Given the description of an element on the screen output the (x, y) to click on. 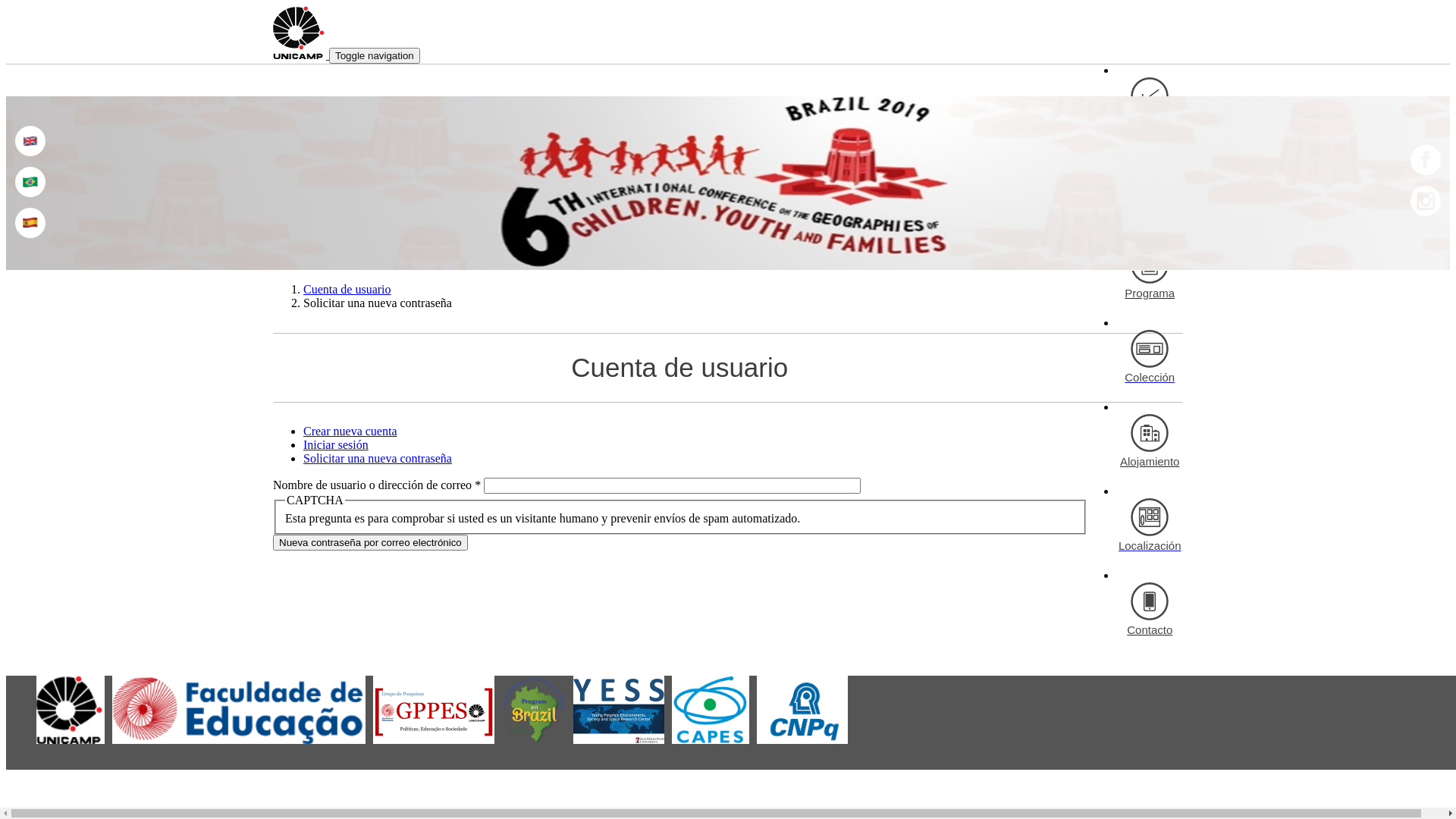
Cuenta de usuario Element type: text (347, 288)
Alojamiento Element type: text (1149, 442)
Contacto Element type: text (1149, 610)
Inscripciones Element type: text (1149, 105)
Crear nueva cuenta Element type: text (349, 430)
Programa Element type: text (1149, 273)
Pasar al contenido principal Element type: text (73, 6)
Toggle navigation Element type: text (374, 55)
Inicio Element type: hover (301, 54)
